Given the description of an element on the screen output the (x, y) to click on. 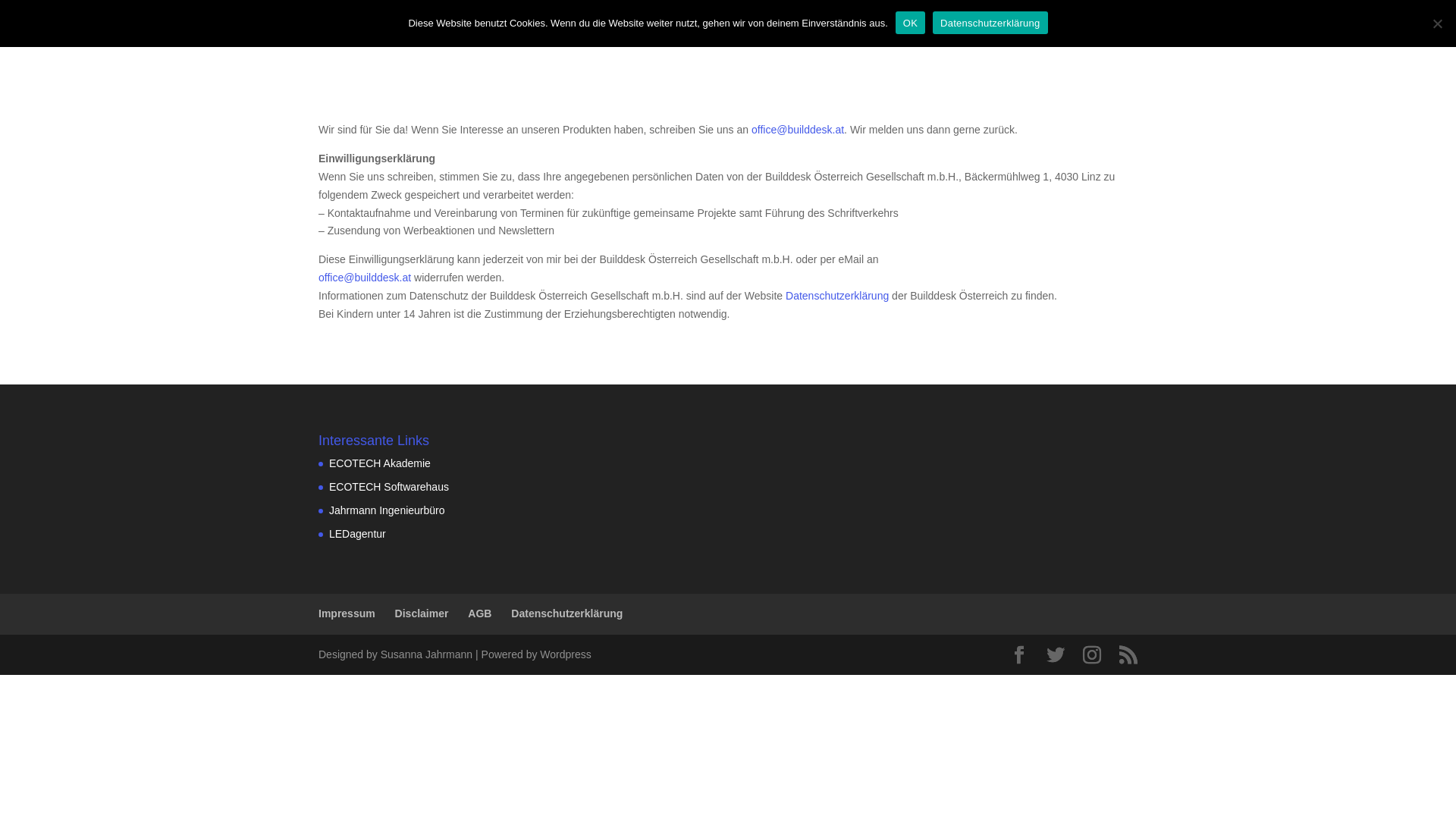
Nein Element type: hover (1436, 23)
Disclaimer Element type: text (421, 613)
AGB Element type: text (479, 613)
office@builddesk.at Element type: text (364, 277)
ECOTECH Akademie Element type: text (379, 463)
LEDagentur Element type: text (357, 533)
Impressum Element type: text (346, 613)
ECOTECH Softwarehaus Element type: text (388, 486)
AGB Element type: text (869, 34)
office@builddesk.at Element type: text (797, 129)
Kontakt Element type: text (1034, 34)
Logo BD Element type: hover (384, 36)
Startseite Element type: text (683, 34)
Impressum Element type: text (748, 34)
OK Element type: text (910, 22)
Disclaimer Element type: text (815, 34)
